Given the description of an element on the screen output the (x, y) to click on. 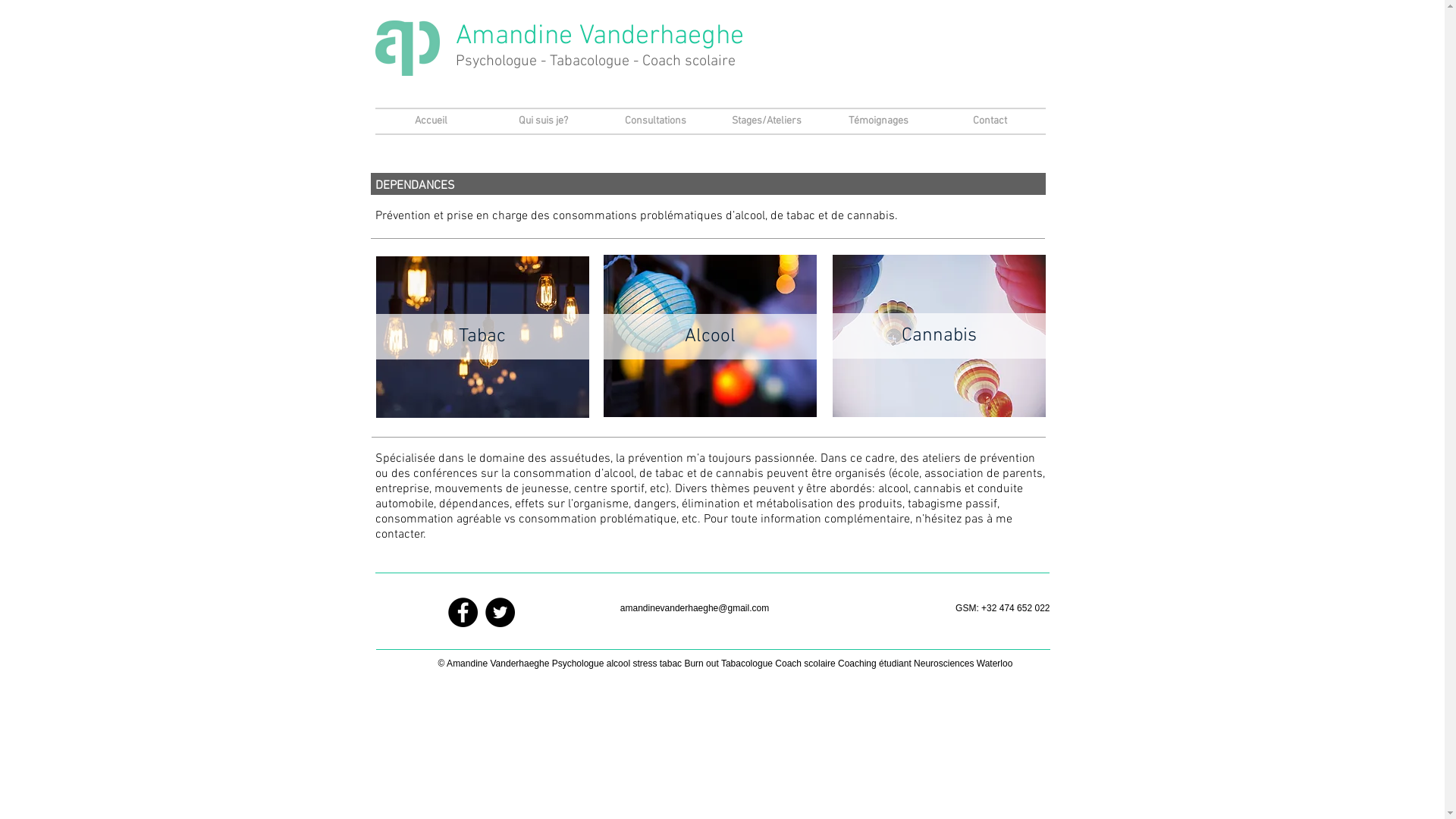
Contact Element type: text (989, 121)
logo-am.png Element type: hover (406, 47)
Alcool Element type: text (709, 336)
amandinevanderhaeghe@gmail.com Element type: text (694, 607)
Cannabis Element type: text (938, 335)
Lights in the Dark Element type: hover (482, 336)
Accueil Element type: text (430, 121)
Qui suis je? Element type: text (542, 121)
Stages/Ateliers Element type: text (766, 121)
Lampions Element type: hover (709, 335)
Tabac Element type: text (482, 336)
